Given the description of an element on the screen output the (x, y) to click on. 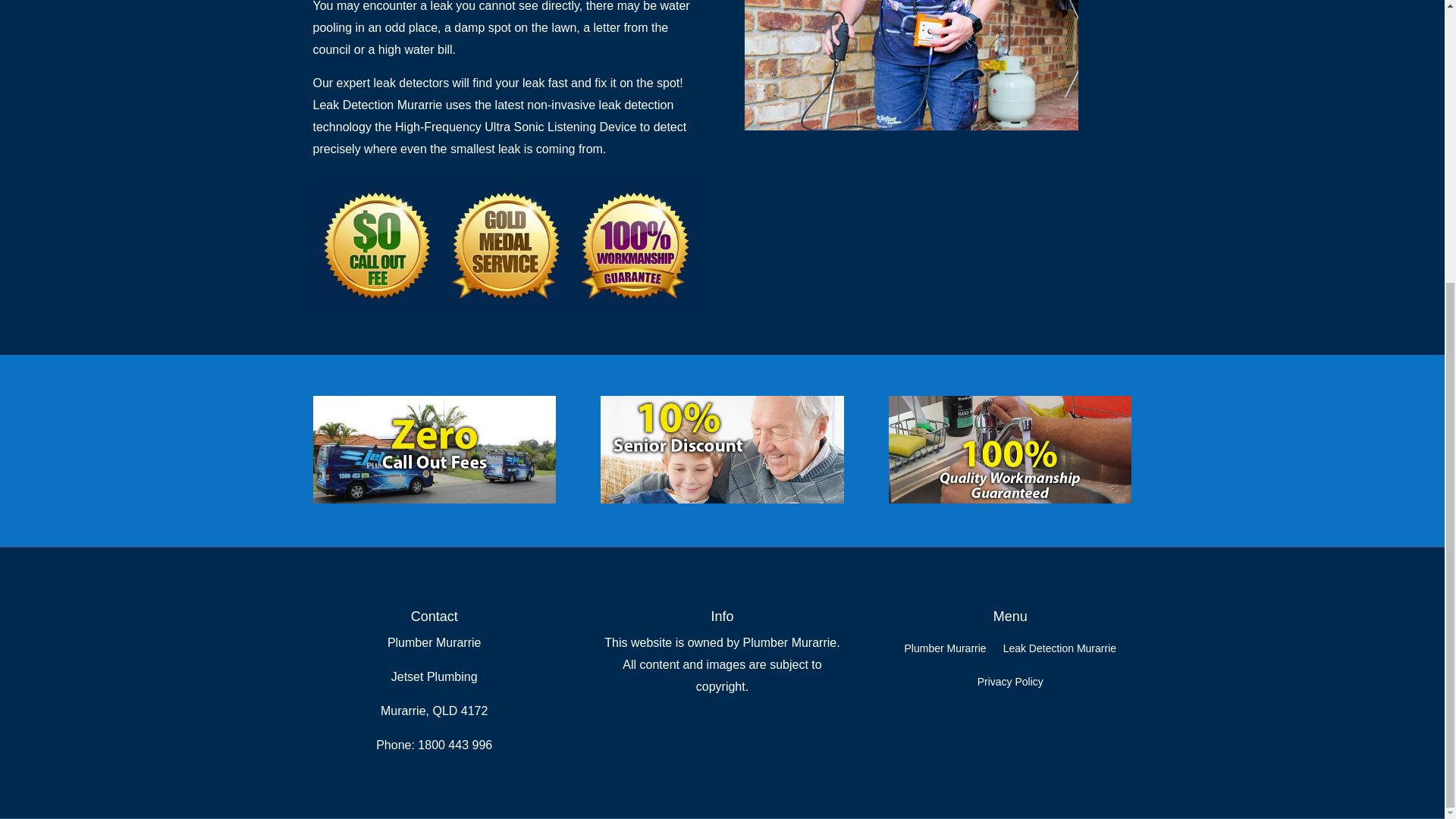
Zero Call Out Fees (433, 448)
Leak Detection Murarrie (911, 65)
Leak Detection Murarrie (1059, 651)
Plumber Murarrie (944, 651)
Privacy Policy (1009, 684)
Gold Medal Service (505, 244)
